Given the description of an element on the screen output the (x, y) to click on. 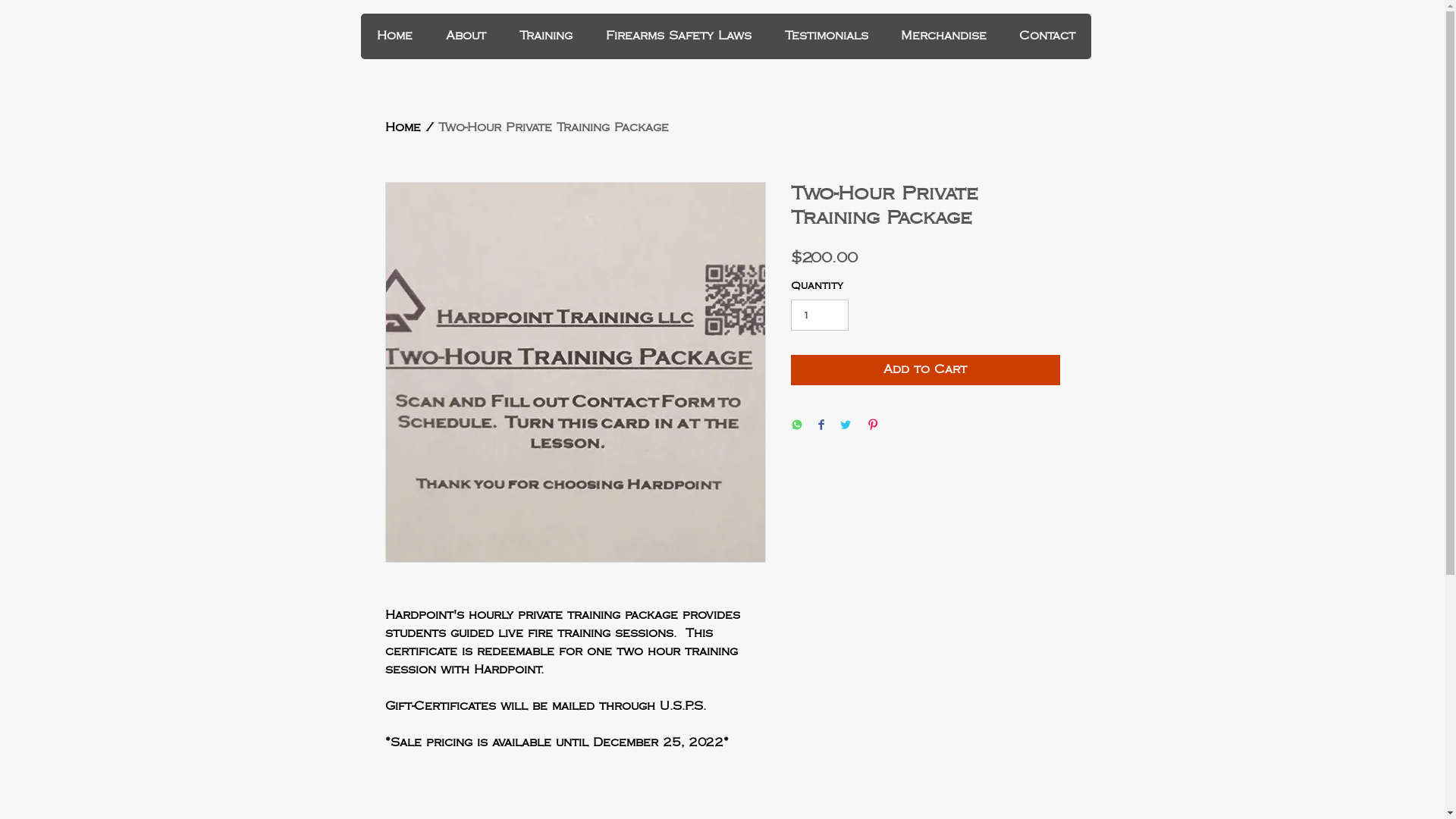
Testimonials Element type: text (825, 36)
Training Element type: text (545, 36)
Home Element type: text (394, 36)
Firearms Safety Laws Element type: text (677, 36)
Two-Hour Private Training Package Element type: text (553, 127)
About Element type: text (465, 36)
Contact Element type: text (1046, 36)
Merchandise Element type: text (943, 36)
Add to Cart Element type: text (924, 369)
Home Element type: text (402, 127)
